Given the description of an element on the screen output the (x, y) to click on. 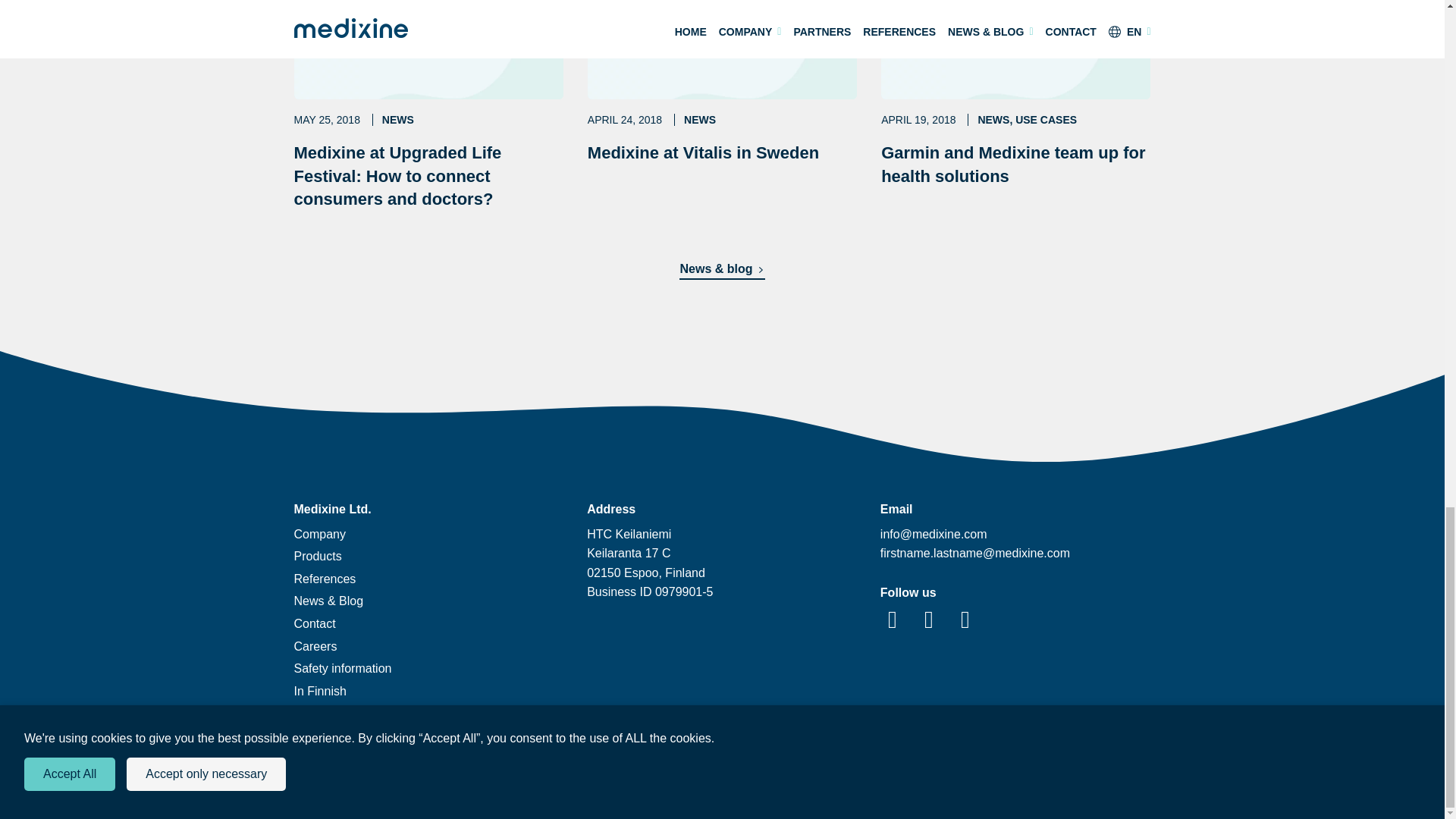
Safety information (342, 667)
Privacy Policy (722, 750)
Instagram (928, 620)
Youtube (964, 620)
Contact (315, 623)
In Finnish (320, 690)
LinkedIn (892, 620)
Company (320, 533)
Careers (722, 82)
Products (315, 645)
References (318, 555)
